Given the description of an element on the screen output the (x, y) to click on. 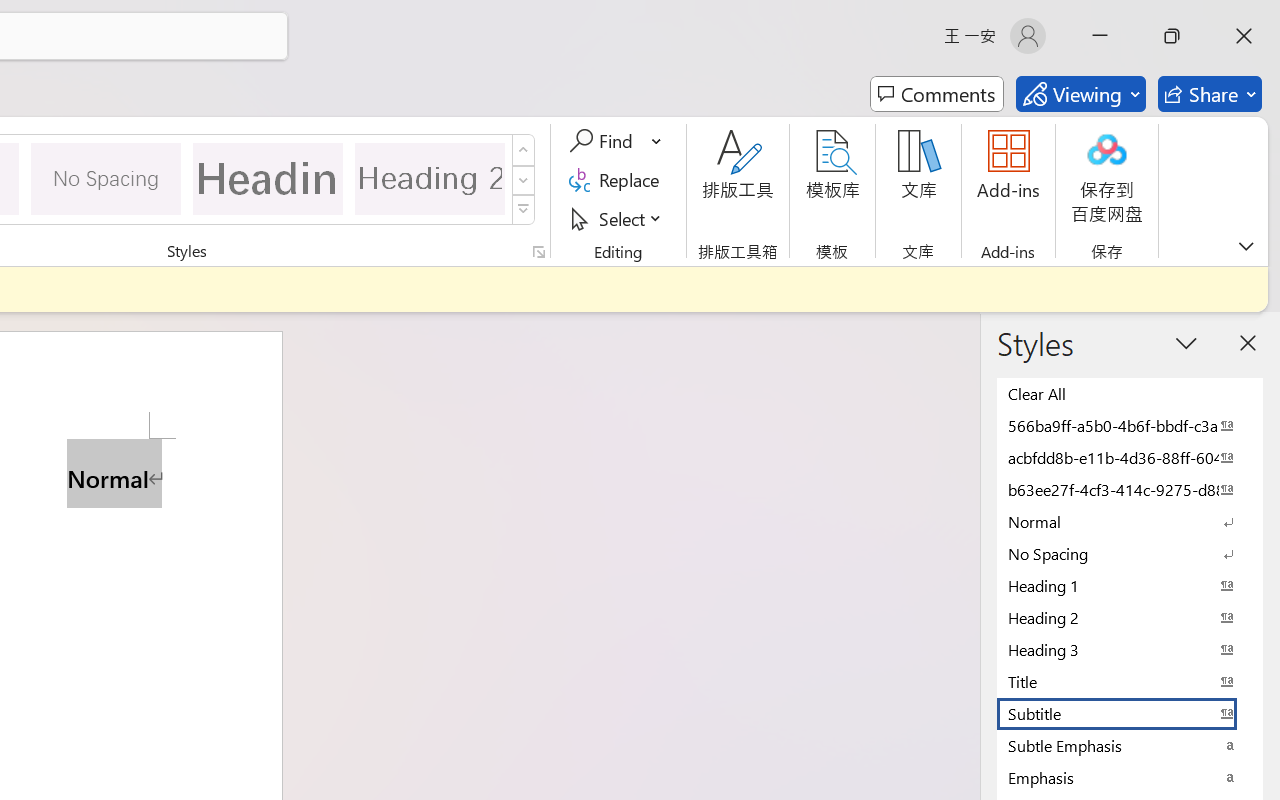
Heading 2 (429, 178)
Heading 3 (1130, 649)
Row up (523, 150)
Title (1130, 681)
Row Down (523, 180)
acbfdd8b-e11b-4d36-88ff-6049b138f862 (1130, 457)
Normal (1130, 521)
Mode (1080, 94)
